Given the description of an element on the screen output the (x, y) to click on. 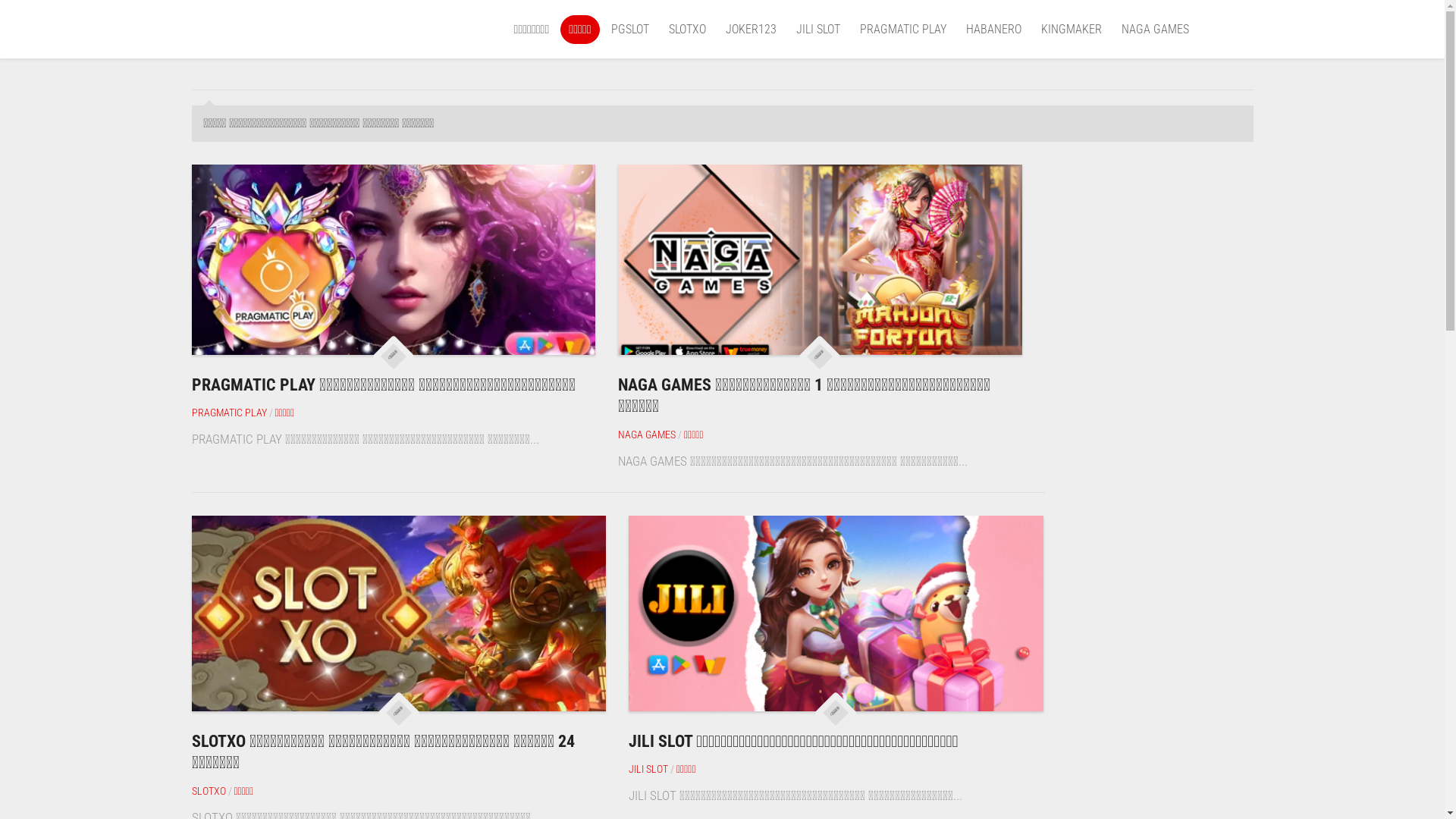
JOKER123 Element type: text (749, 29)
JILI SLOT Element type: text (818, 29)
PGSLOT Element type: text (630, 29)
SLOTXO Element type: text (687, 29)
NAGA GAMES Element type: text (646, 434)
HABANERO Element type: text (993, 29)
NAGA GAMES Element type: text (1154, 29)
PRAGMATIC PLAY Element type: text (902, 29)
PRAGMATIC PLAY Element type: text (228, 412)
JILI SLOT Element type: text (648, 768)
KINGMAKER Element type: text (1070, 29)
SLOTXO Element type: text (208, 790)
